Given the description of an element on the screen output the (x, y) to click on. 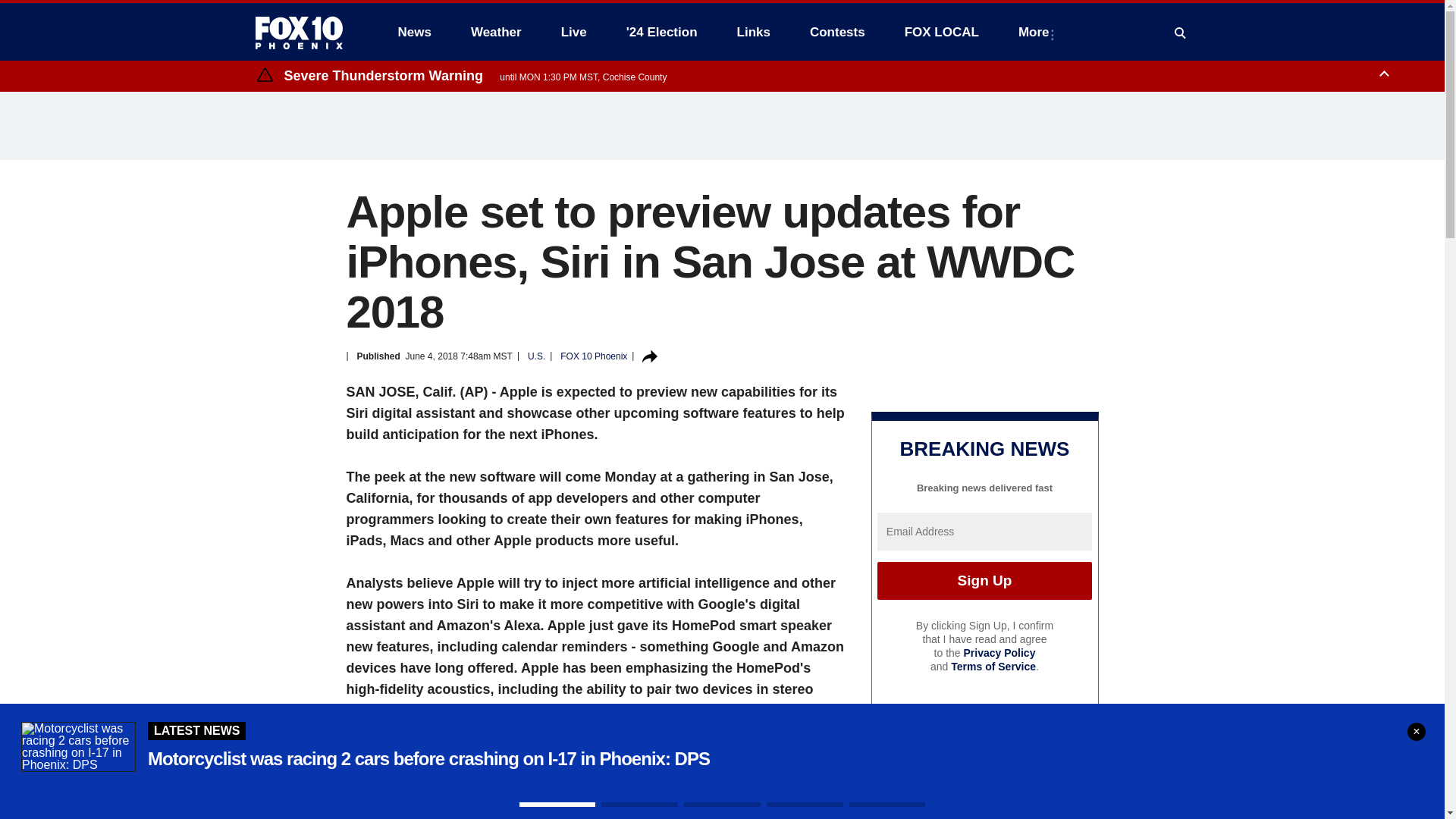
Links (754, 32)
Sign Up (984, 580)
Contests (837, 32)
Weather (496, 32)
FOX LOCAL (941, 32)
More (1036, 32)
News (413, 32)
'24 Election (662, 32)
Live (573, 32)
